Given the description of an element on the screen output the (x, y) to click on. 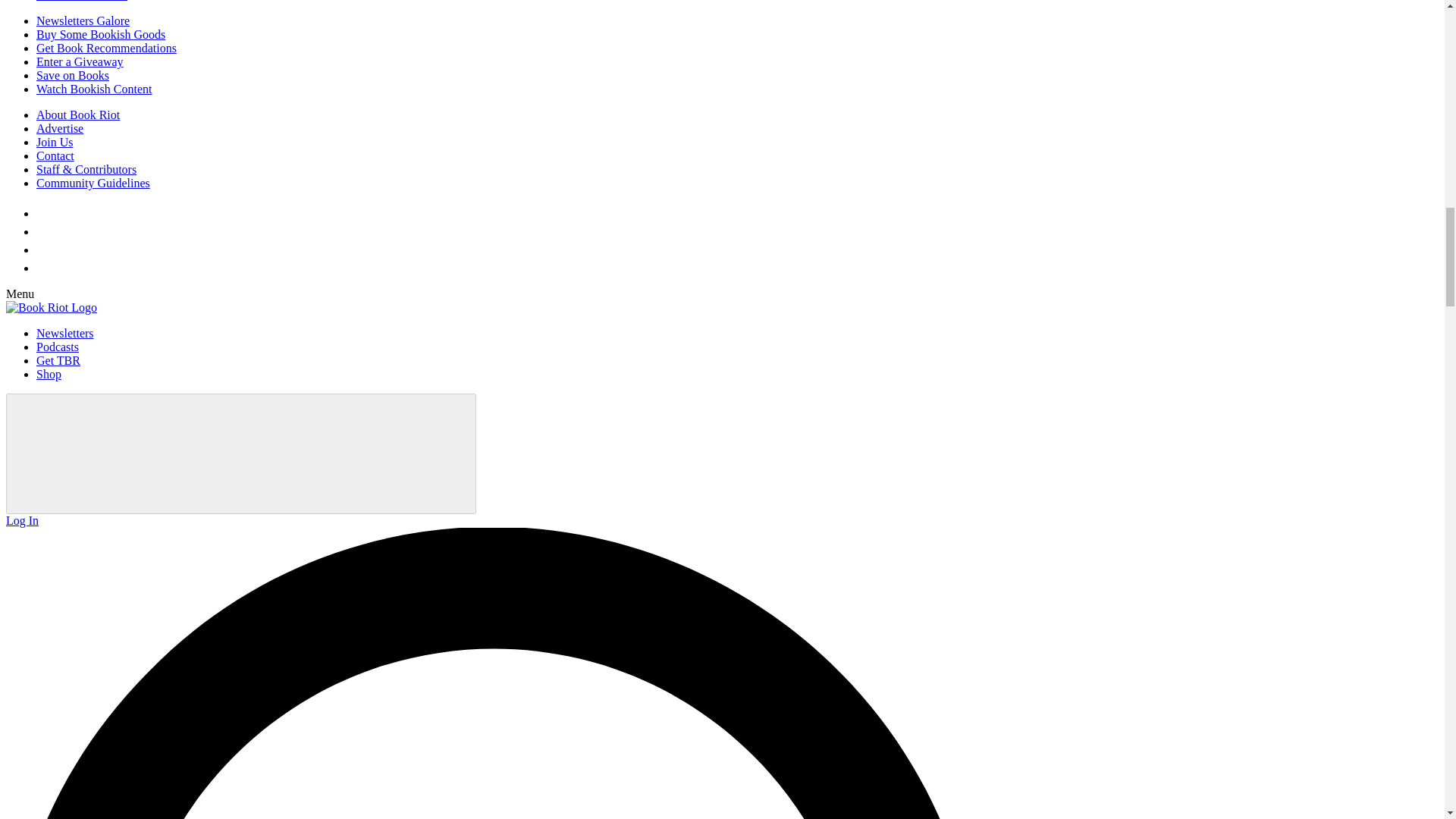
Save on Books (72, 74)
Enter a Giveaway (79, 61)
Contact (55, 155)
Newsletters Galore (82, 20)
Community Guidelines (92, 182)
Get TBR (58, 359)
Shop (48, 373)
Buy Some Bookish Goods (100, 33)
About Book Riot (77, 114)
Get Book Recommendations (106, 47)
Watch Bookish Content (93, 88)
Podcasts (57, 346)
Join Us (54, 141)
Newsletters (65, 332)
Advertise (59, 128)
